Given the description of an element on the screen output the (x, y) to click on. 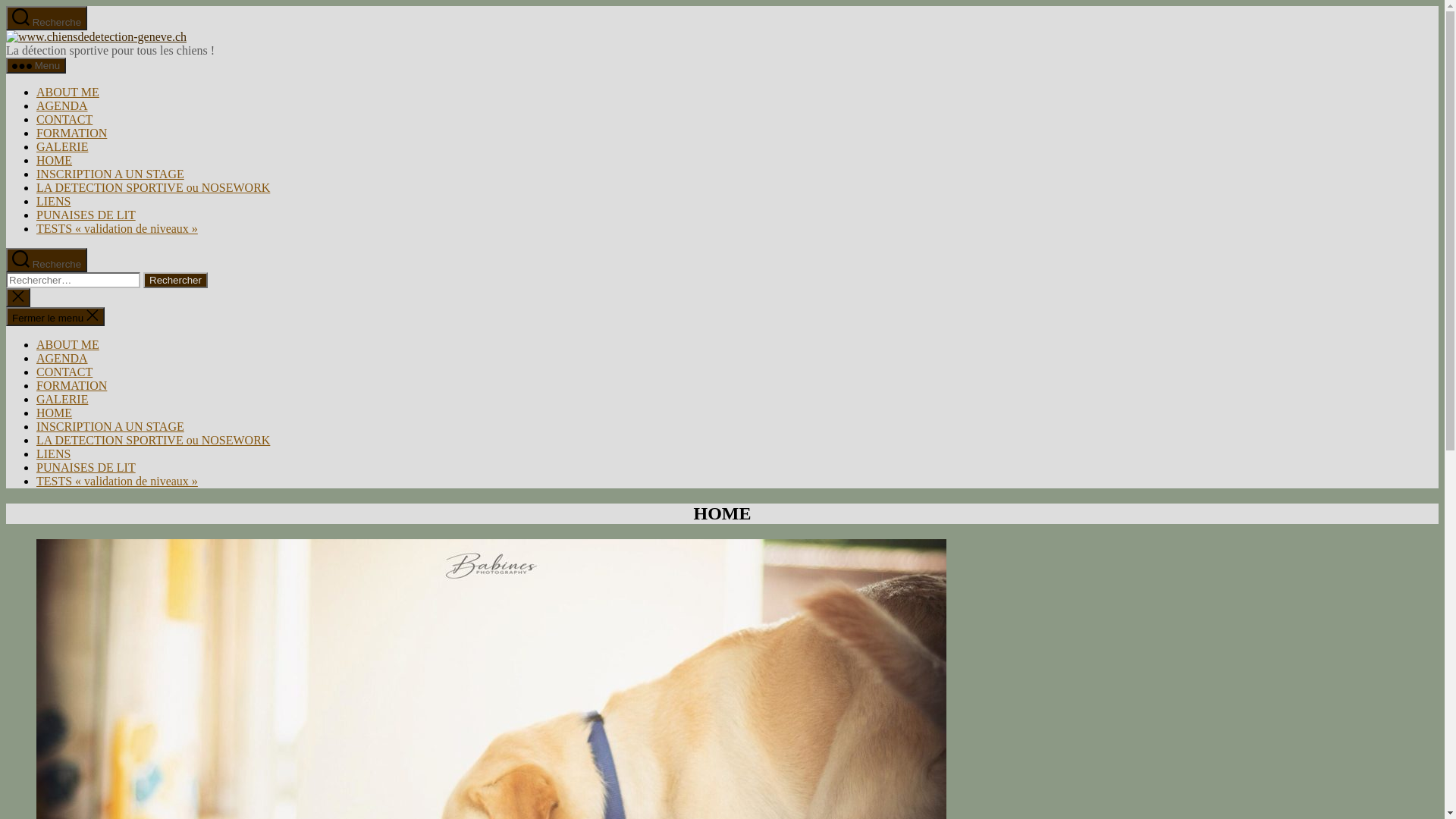
HOME Element type: text (54, 412)
AGENDA Element type: text (61, 357)
LA DETECTION SPORTIVE ou NOSEWORK Element type: text (152, 187)
CONTACT Element type: text (64, 371)
GALERIE Element type: text (61, 398)
GALERIE Element type: text (61, 146)
PUNAISES DE LIT Element type: text (85, 214)
INSCRIPTION A UN STAGE Element type: text (110, 173)
FORMATION Element type: text (71, 385)
LIENS Element type: text (53, 453)
Menu Element type: text (35, 65)
ABOUT ME Element type: text (67, 344)
LIENS Element type: text (53, 200)
Aller au contenu Element type: text (5, 5)
LA DETECTION SPORTIVE ou NOSEWORK Element type: text (152, 439)
Rechercher Element type: text (175, 280)
AGENDA Element type: text (61, 105)
CONTACT Element type: text (64, 118)
PUNAISES DE LIT Element type: text (85, 467)
HOME Element type: text (54, 159)
INSCRIPTION A UN STAGE Element type: text (110, 426)
ABOUT ME Element type: text (67, 91)
Recherche Element type: text (46, 259)
Fermer le menu Element type: text (55, 316)
Fermer la recherche Element type: text (18, 297)
FORMATION Element type: text (71, 132)
Recherche Element type: text (46, 18)
